Given the description of an element on the screen output the (x, y) to click on. 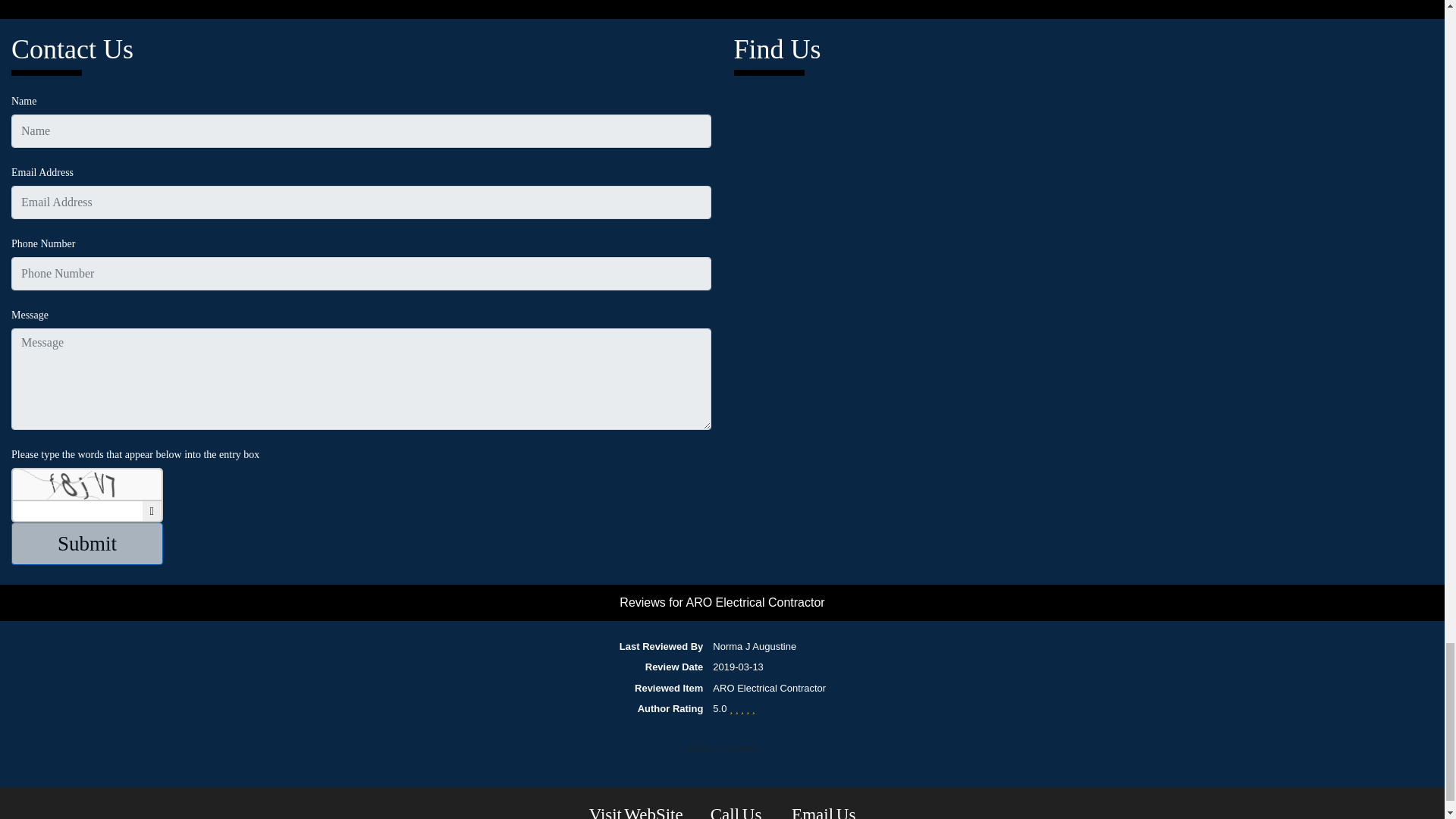
Call Us (737, 812)
Submit (87, 543)
Email Us (823, 812)
Write a Review (722, 748)
Visit WebSite (636, 812)
